Given the description of an element on the screen output the (x, y) to click on. 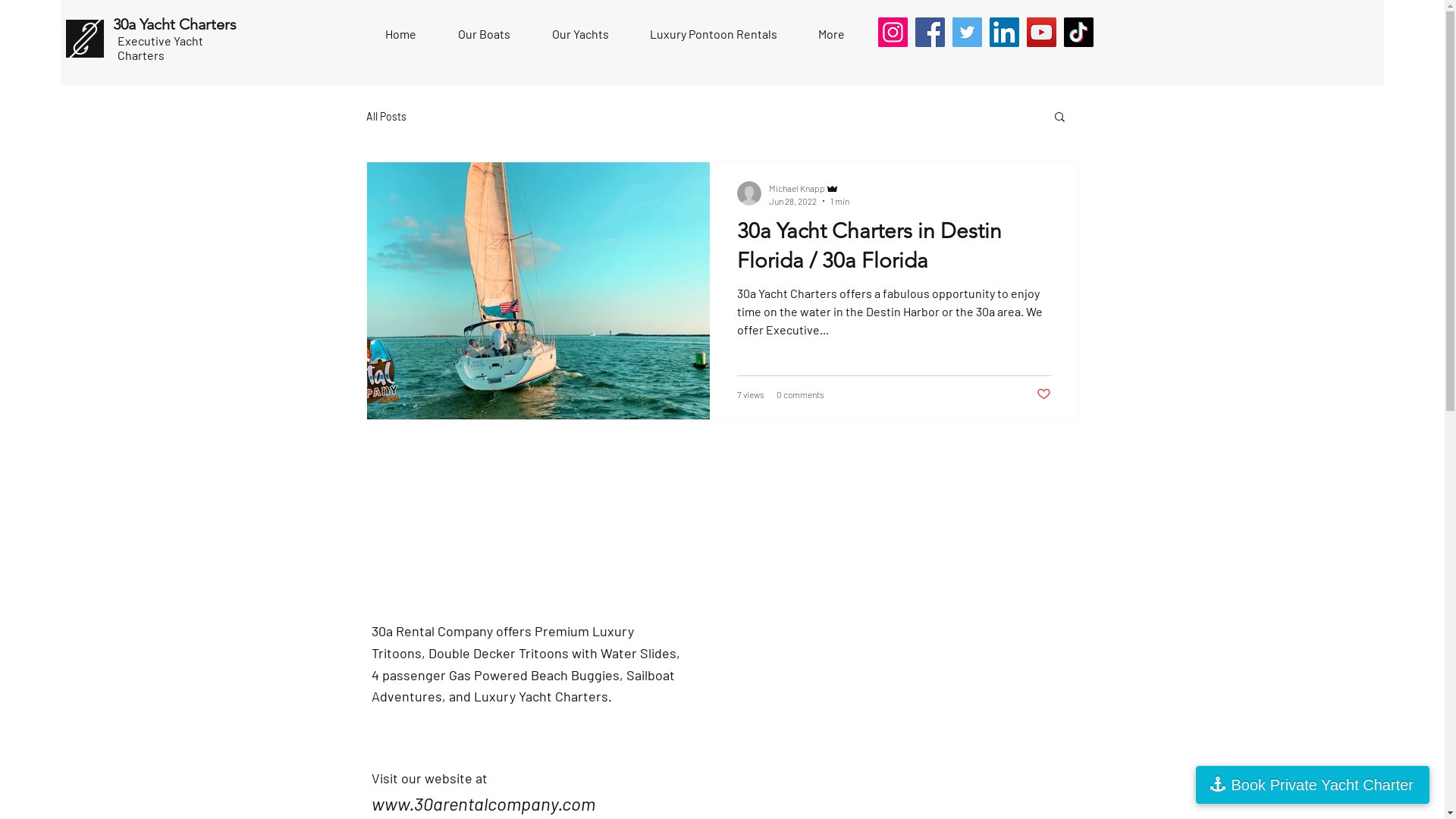
https://g.co/kgs/NsvP7F Element type: text (443, 735)
Home Element type: text (520, 40)
30a Yacht Charters Element type: text (174, 24)
www.30arentalcompany.com Element type: text (483, 803)
Book Private Yacht Charter Element type: text (1312, 784)
Home Element type: text (400, 34)
Our Yachts Element type: text (693, 40)
Luxury Pontoon Rentals Element type: text (713, 34)
Our Boats Element type: text (600, 40)
https://g.co/kgs/VDMpJW Element type: text (447, 716)
0 comments Element type: text (800, 393)
Executive Yacht Charters Element type: text (146, 63)
Post not marked as liked Element type: text (1042, 393)
Our Yachts Element type: text (580, 34)
30a Yacht Charters in Destin Florida / 30a Florida Element type: text (894, 249)
Our Boats Element type: text (484, 34)
Executive Yacht Charters Element type: text (160, 47)
Michael Knapp Element type: text (808, 187)
Luxury Pontoon Rentals Element type: text (823, 40)
Log In Element type: text (1335, 40)
30a Luxury Yachts Element type: text (162, 30)
All Posts Element type: text (385, 115)
